Given the description of an element on the screen output the (x, y) to click on. 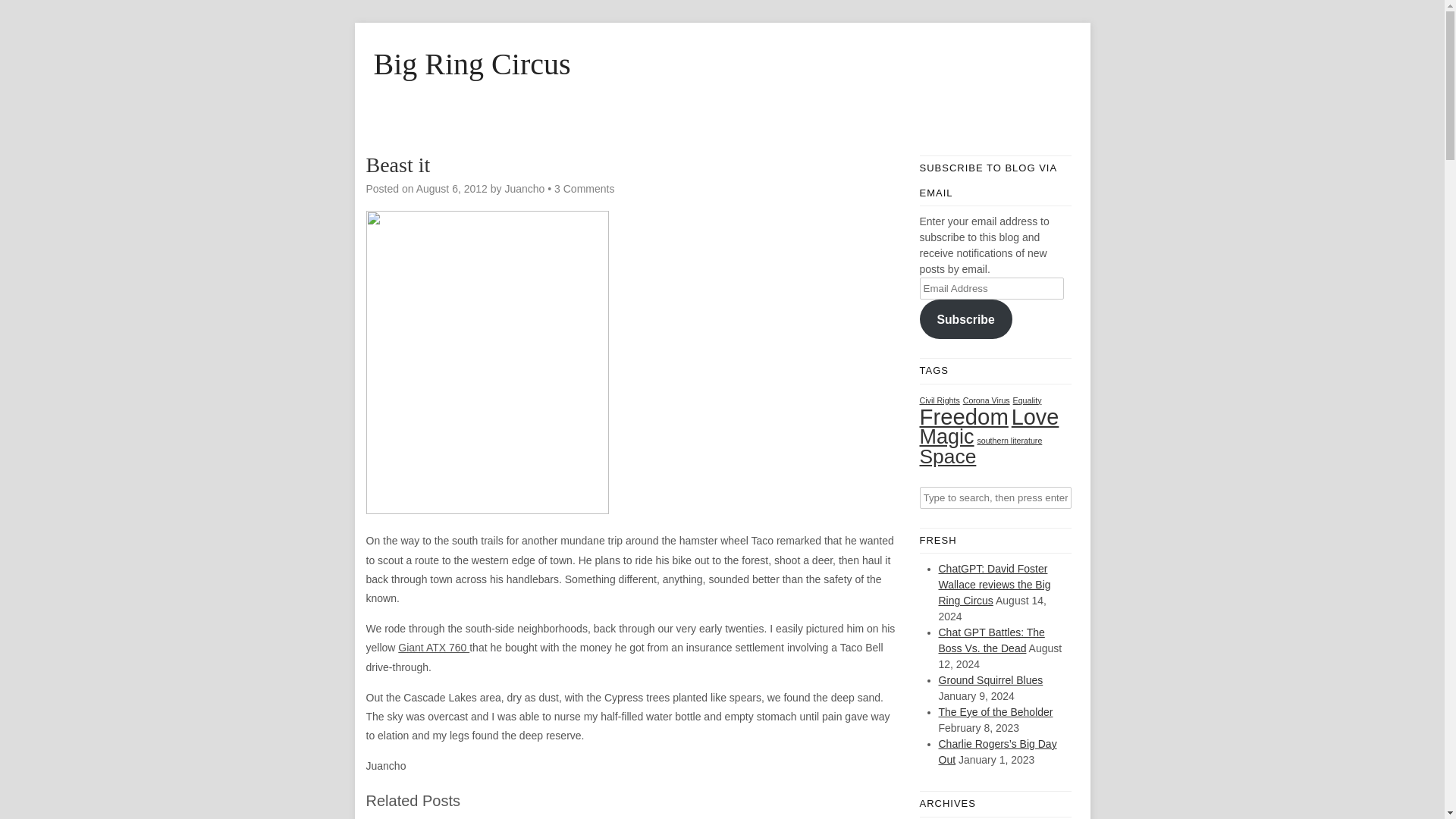
Civil Rights (938, 399)
Juancho (523, 188)
Big Ring Circus (721, 64)
3 Comments (584, 188)
ChatGPT: David Foster Wallace reviews the Big Ring Circus (995, 584)
Equality (1027, 399)
southern literature (1009, 439)
Space (946, 455)
Magic (946, 436)
Giant ATX 760 (432, 647)
